Given the description of an element on the screen output the (x, y) to click on. 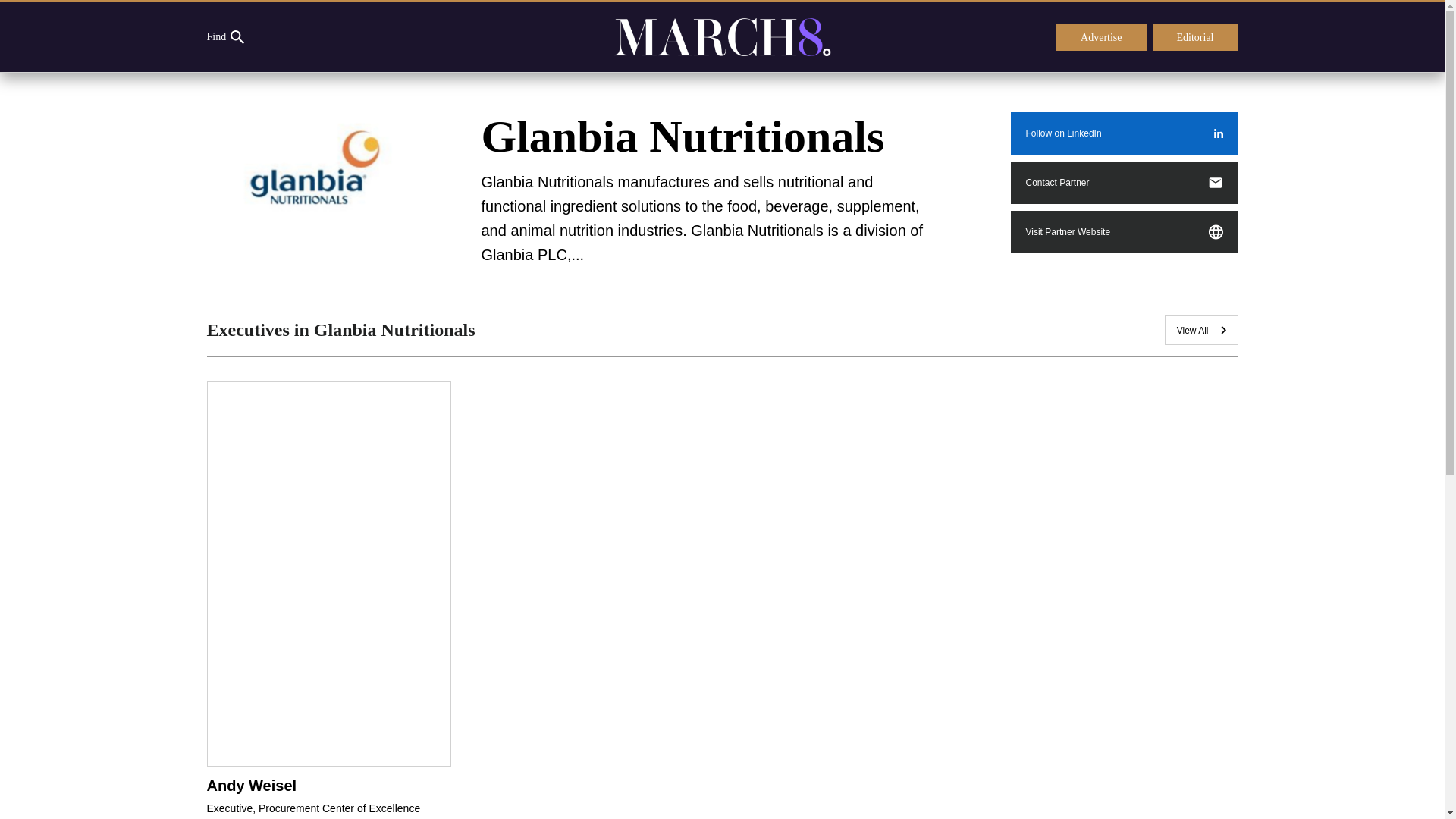
Editorial (1196, 37)
View All (1201, 329)
Find (225, 37)
Visit Partner Website (1123, 231)
Contact Partner (1123, 182)
Advertise (1101, 37)
Follow on LinkedIn (1123, 133)
